Given the description of an element on the screen output the (x, y) to click on. 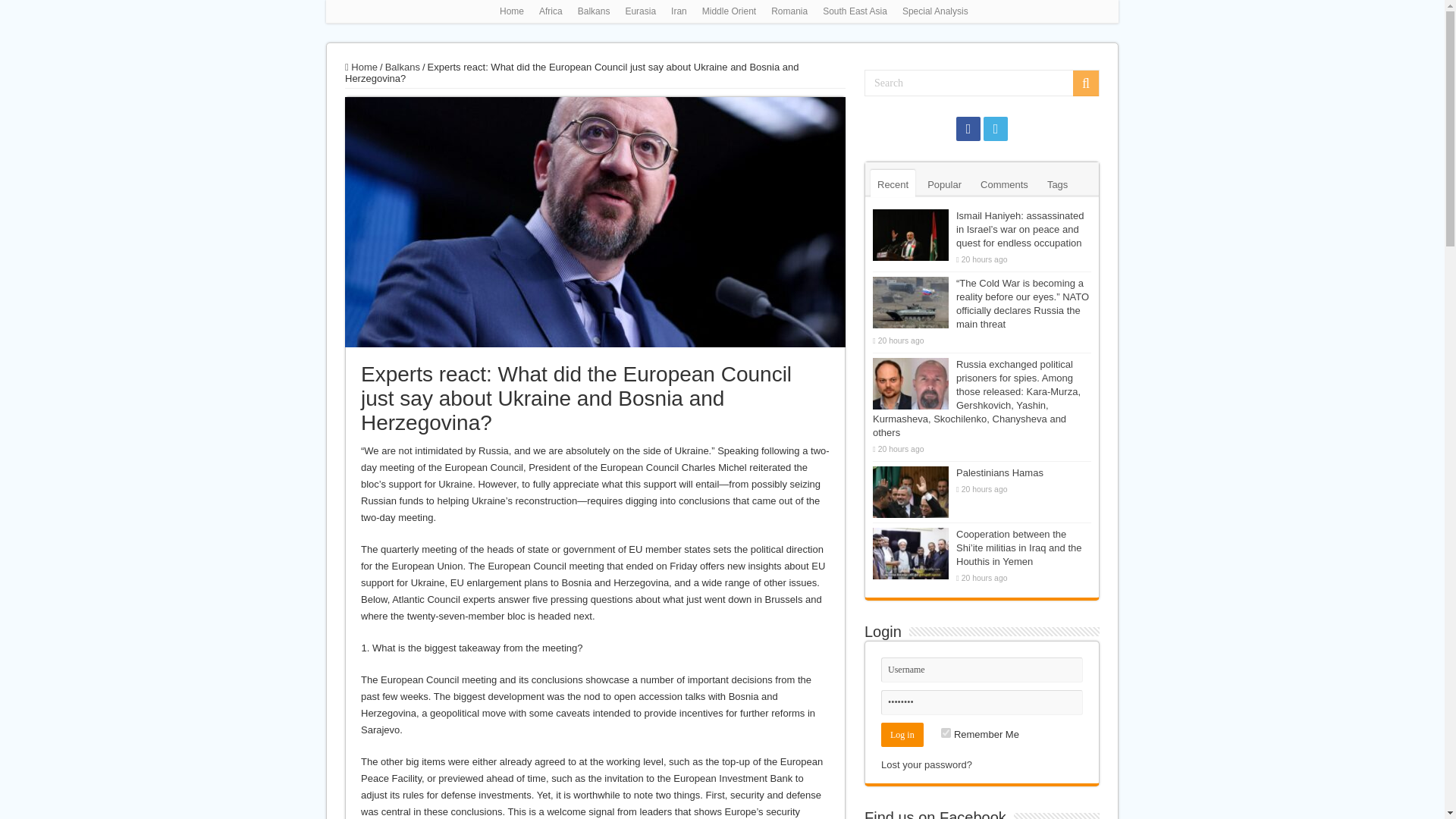
Balkans (402, 66)
Log in (901, 734)
Search (981, 82)
Comments (1004, 183)
South East Asia (855, 11)
Middle Orient (728, 11)
Facebook (967, 128)
forever (945, 732)
Home (511, 11)
Password (981, 702)
Username (981, 669)
Password (981, 702)
Romania (788, 11)
Africa (550, 11)
Home (361, 66)
